Given the description of an element on the screen output the (x, y) to click on. 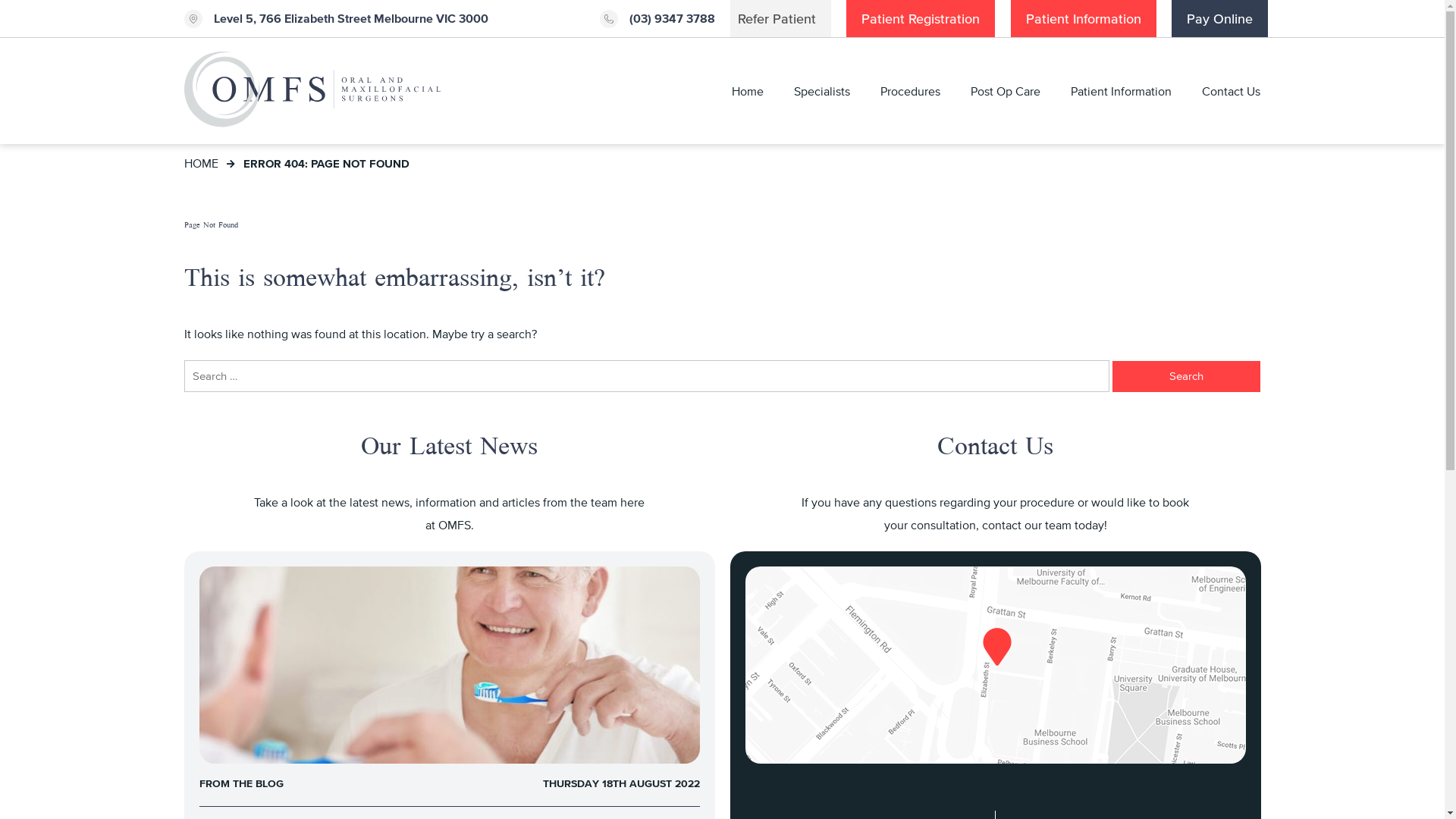
HOME Element type: text (200, 162)
Patient Information Element type: text (1083, 18)
(03) 9347 3788 Element type: text (656, 18)
Level 5, 766 Elizabeth Street Melbourne VIC 3000 Element type: text (335, 18)
Pay Online Element type: text (1219, 18)
Specialists Element type: text (821, 90)
OMFS Logo Element type: text (311, 91)
Search Element type: text (1185, 376)
Patient Information Element type: text (1120, 90)
Post Op Care Element type: text (1005, 90)
Refer Patient Element type: text (775, 18)
Patient Registration Element type: text (920, 18)
Procedures Element type: text (910, 90)
Contact Us Element type: text (1230, 90)
Home Element type: text (747, 90)
